Given the description of an element on the screen output the (x, y) to click on. 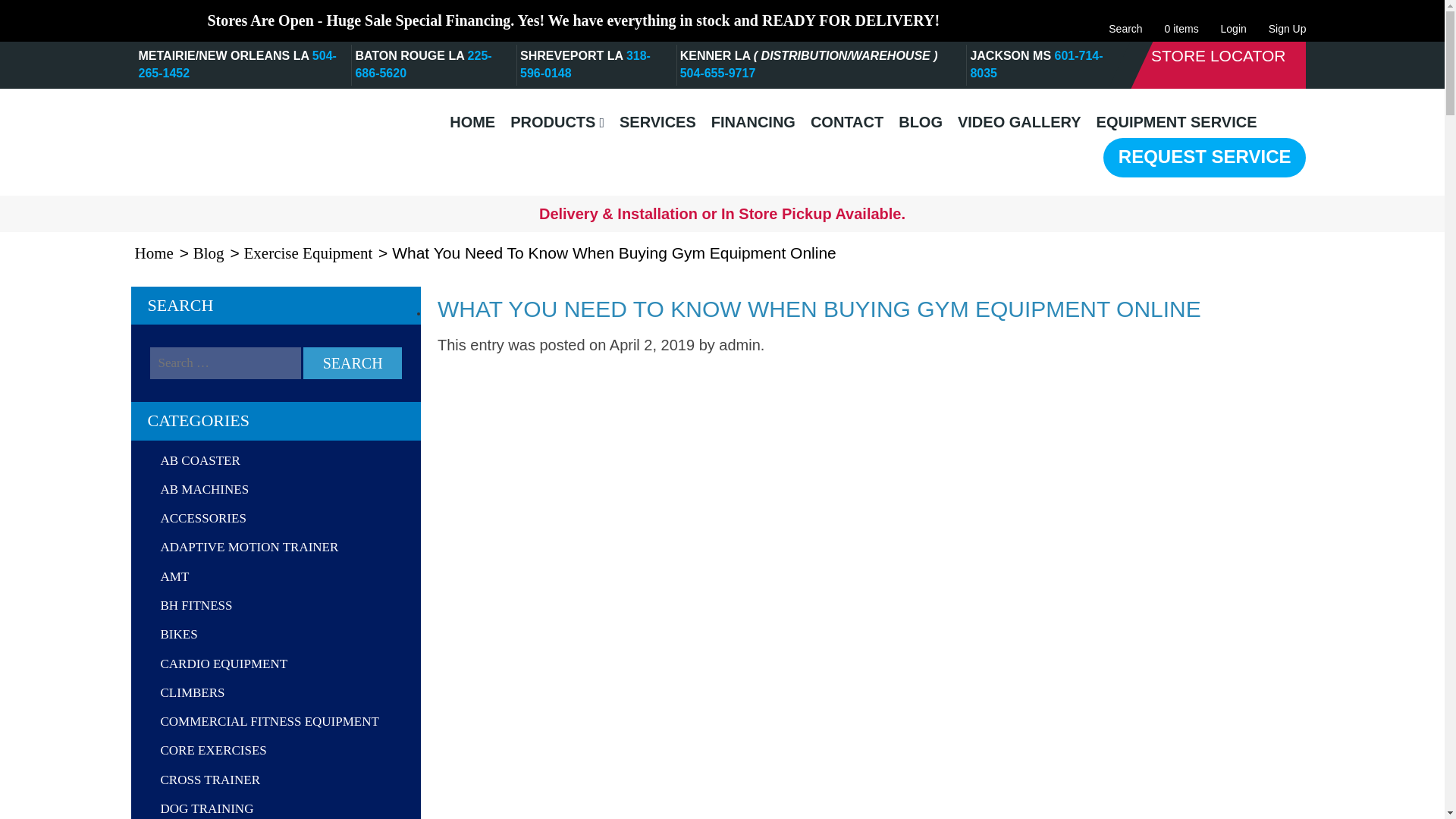
Sign Up (1287, 20)
STORE LOCATOR (1218, 55)
SERVICES (657, 122)
504-655-9717 (717, 72)
CONTACT (846, 122)
View your shopping cart (1181, 20)
Go to the Exercise Equipment category archives. (309, 253)
Search Posts (225, 363)
Go to Blog. (209, 253)
PRODUCTS (557, 122)
